Given the description of an element on the screen output the (x, y) to click on. 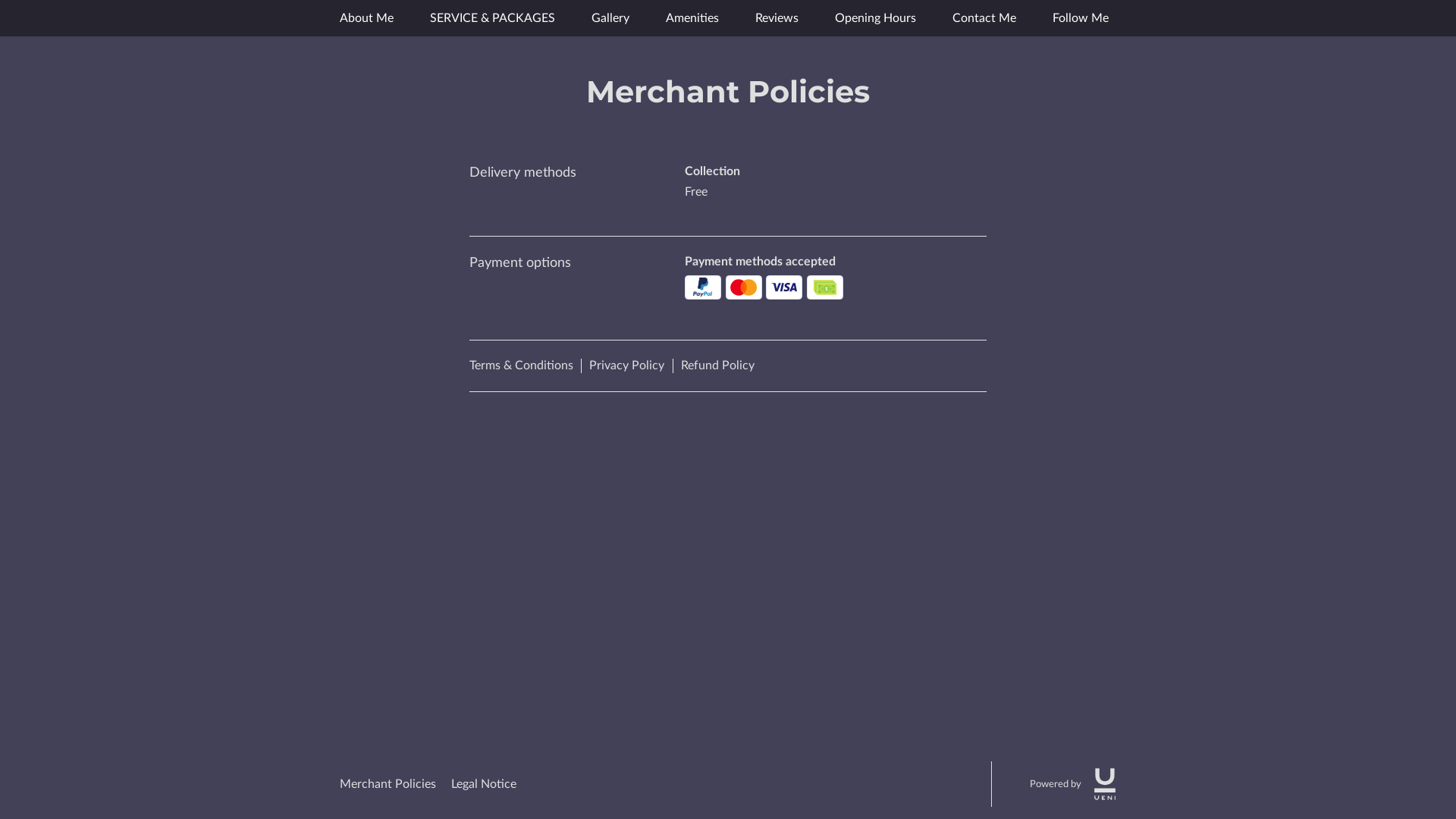
Privacy Policy Element type: text (630, 365)
Reviews Element type: text (776, 17)
Contact Me Element type: text (984, 17)
About Me Element type: text (366, 17)
Follow Me Element type: text (1080, 17)
Amenities Element type: text (691, 17)
Opening Hours Element type: text (875, 17)
Terms & Conditions Element type: text (525, 365)
Refund Policy Element type: text (717, 365)
Gallery Element type: text (610, 17)
Merchant Policies Element type: text (387, 783)
Legal Notice Element type: text (483, 783)
SERVICE & PACKAGES Element type: text (492, 17)
